Given the description of an element on the screen output the (x, y) to click on. 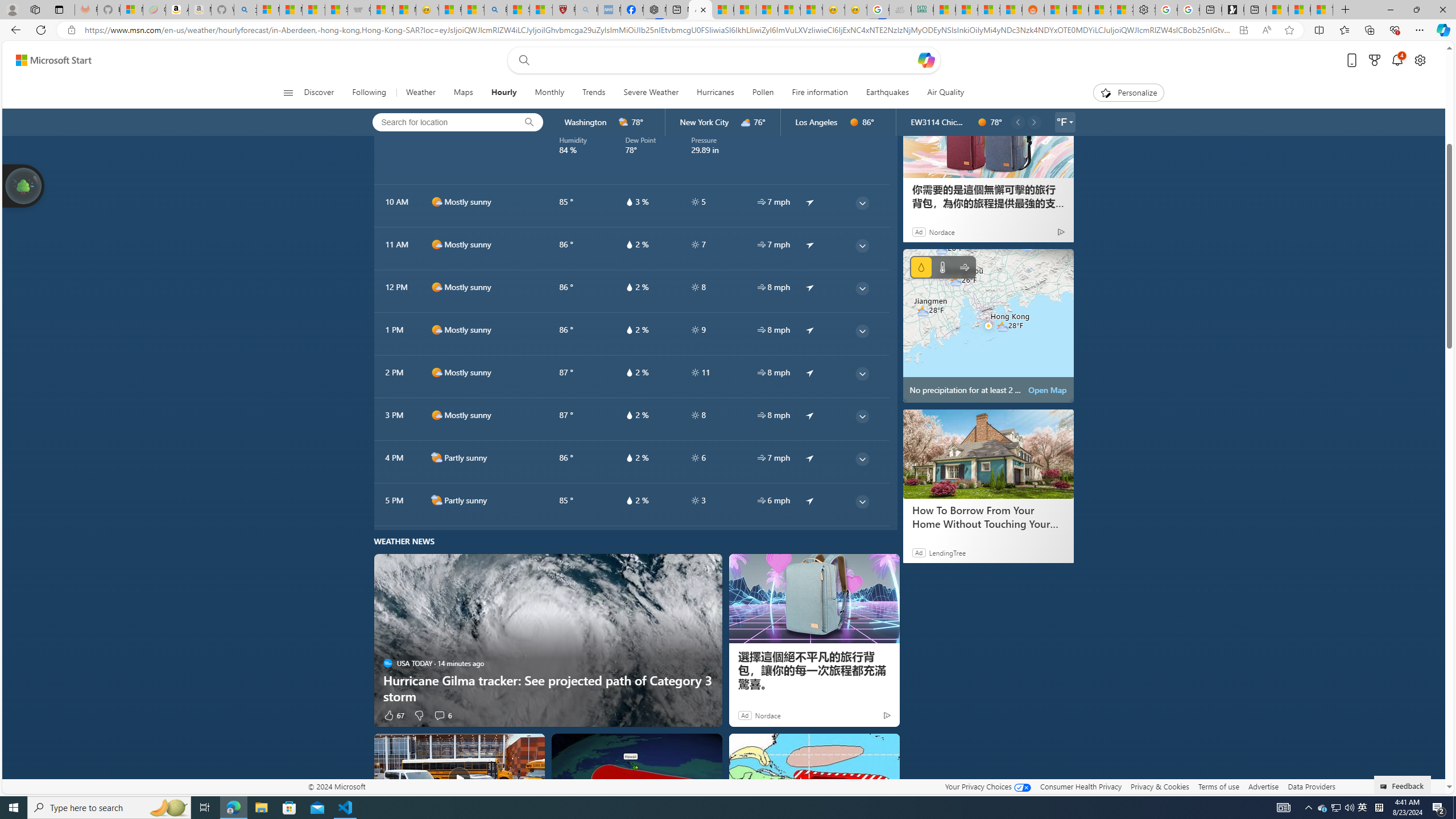
Precipitation (920, 267)
Monthly (549, 92)
d0000 (981, 121)
Air Quality (940, 92)
static map image of vector map (988, 325)
Severe Weather (651, 92)
